Given the description of an element on the screen output the (x, y) to click on. 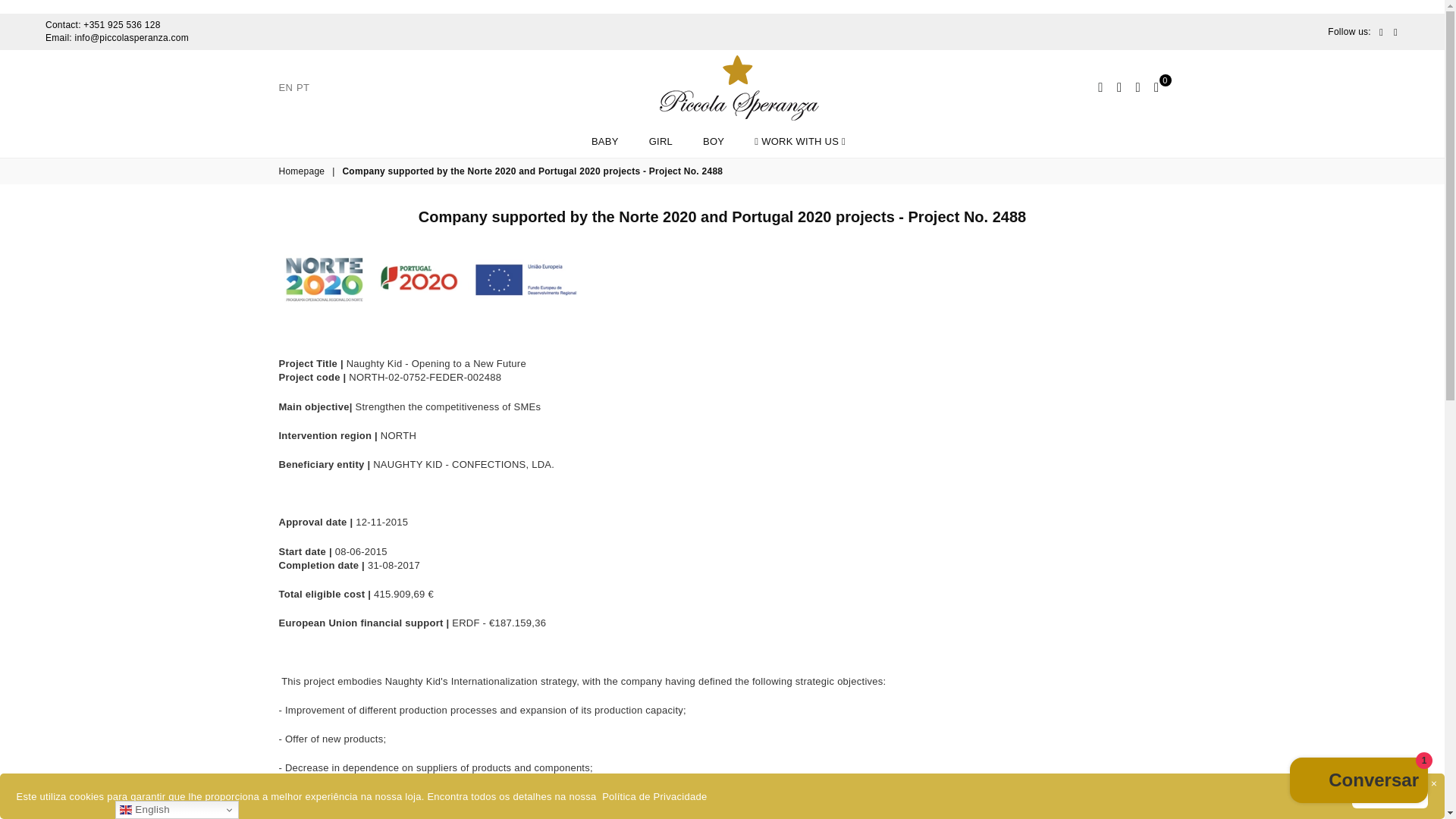
Conversa da loja online da Shopify (1358, 781)
Facebook (1381, 31)
Instagram (1396, 31)
PT (302, 88)
Return to home page (303, 171)
Piccola Speranza (739, 87)
English (286, 88)
EN (286, 88)
